Given the description of an element on the screen output the (x, y) to click on. 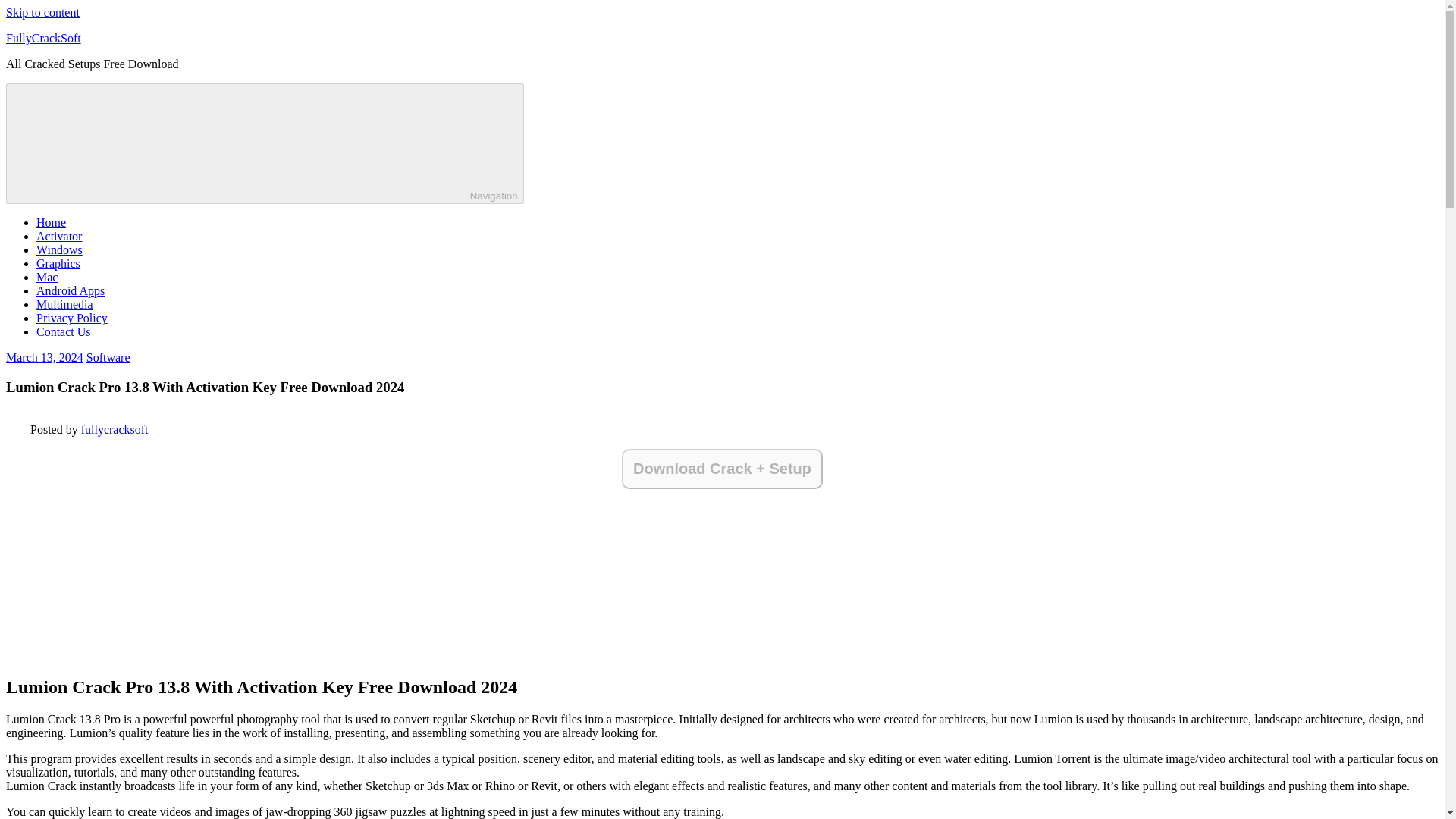
Navigation (264, 143)
Mac (47, 277)
Software (108, 357)
Home (50, 222)
March 13, 2024 (43, 357)
Contact Us (63, 331)
FullyCrackSoft (43, 38)
Android Apps (70, 290)
Privacy Policy (71, 318)
